Given the description of an element on the screen output the (x, y) to click on. 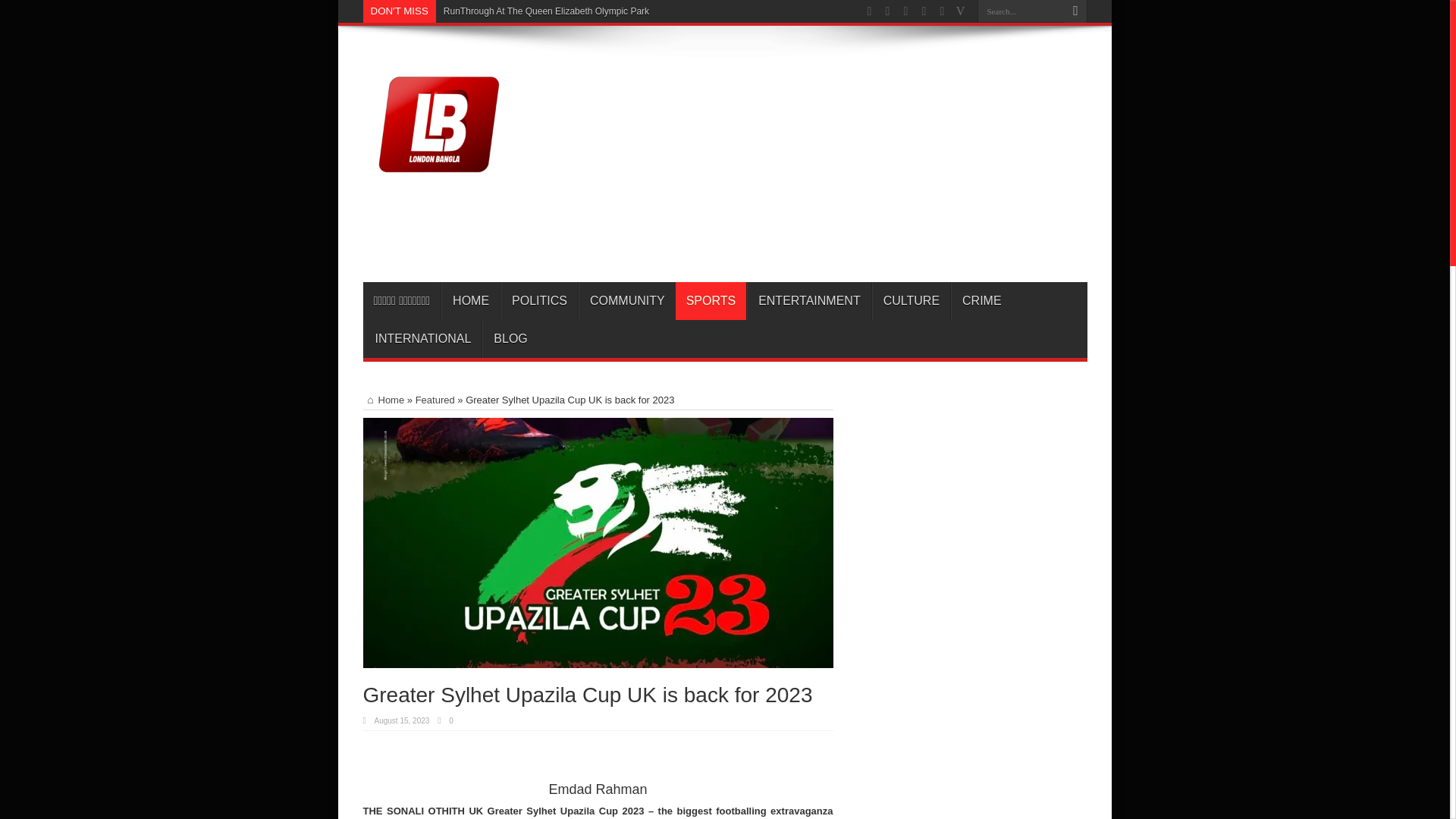
RunThrough At The Queen Elizabeth Olympic Park (546, 11)
RunThrough At The Queen Elizabeth Olympic Park (546, 11)
POLITICS (539, 300)
Search (1075, 11)
CULTURE (911, 300)
COMMUNITY (626, 300)
Featured (434, 399)
BLOG (509, 338)
SPORTS (710, 300)
Home (383, 399)
